Given the description of an element on the screen output the (x, y) to click on. 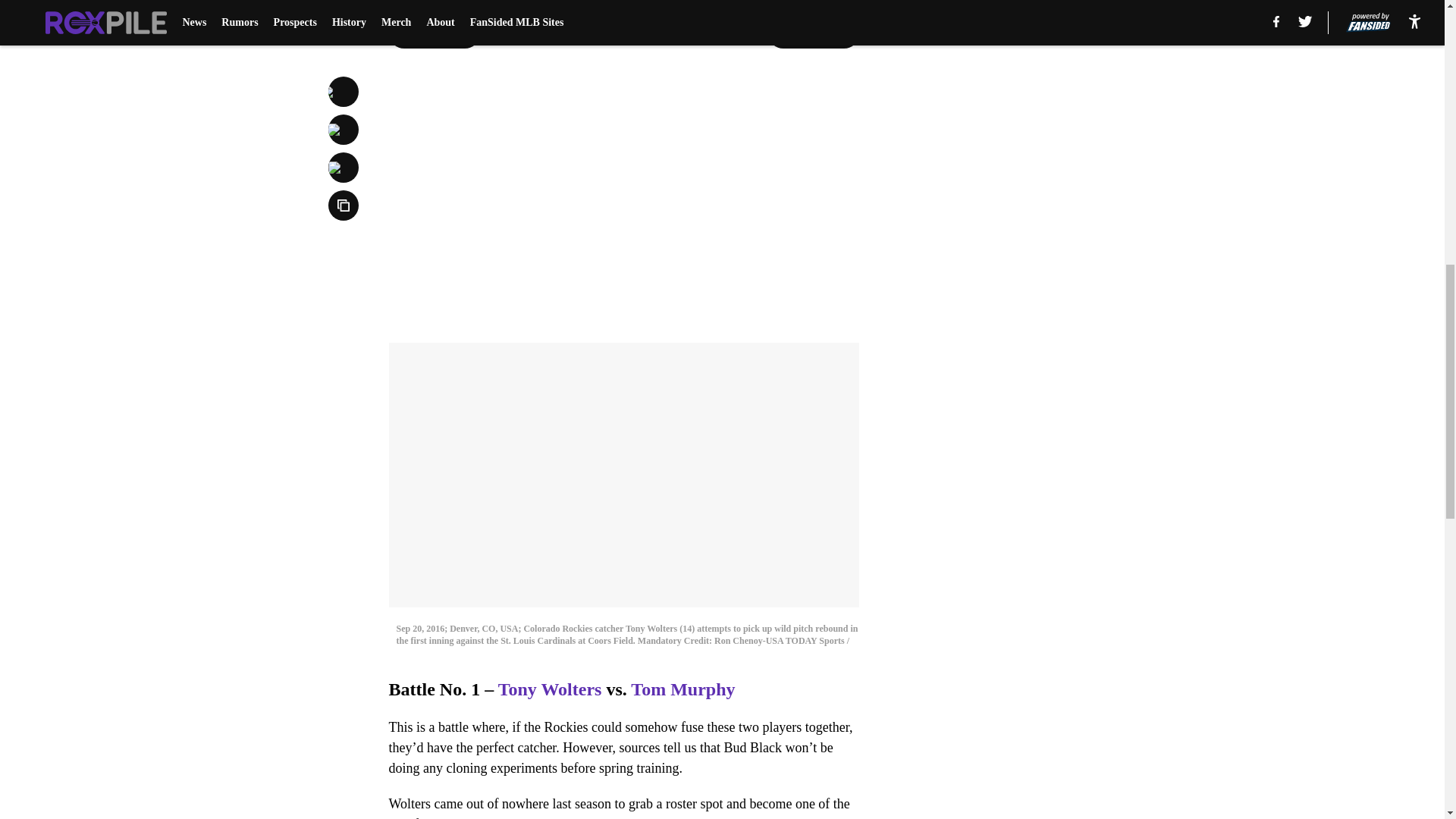
Prev (433, 33)
Tom Murphy (682, 689)
Next (813, 33)
Tony Wolters (549, 689)
